Given the description of an element on the screen output the (x, y) to click on. 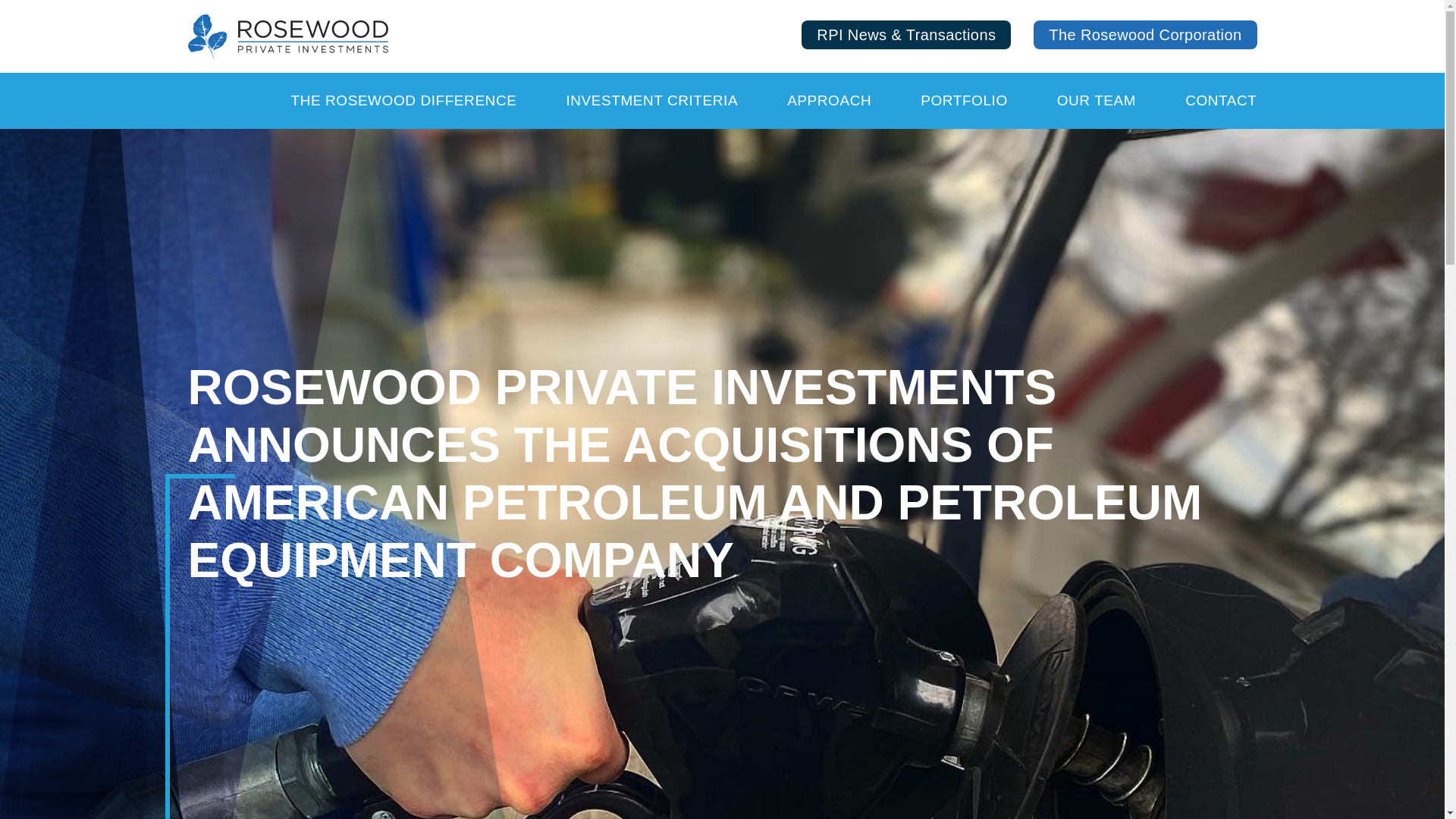
APPROACH (828, 101)
PORTFOLIO (963, 101)
THE ROSEWOOD DIFFERENCE (403, 101)
OUR TEAM (1096, 101)
INVESTMENT CRITERIA (652, 101)
CONTACT (1220, 101)
The Rosewood Corporation (1144, 34)
